Given the description of an element on the screen output the (x, y) to click on. 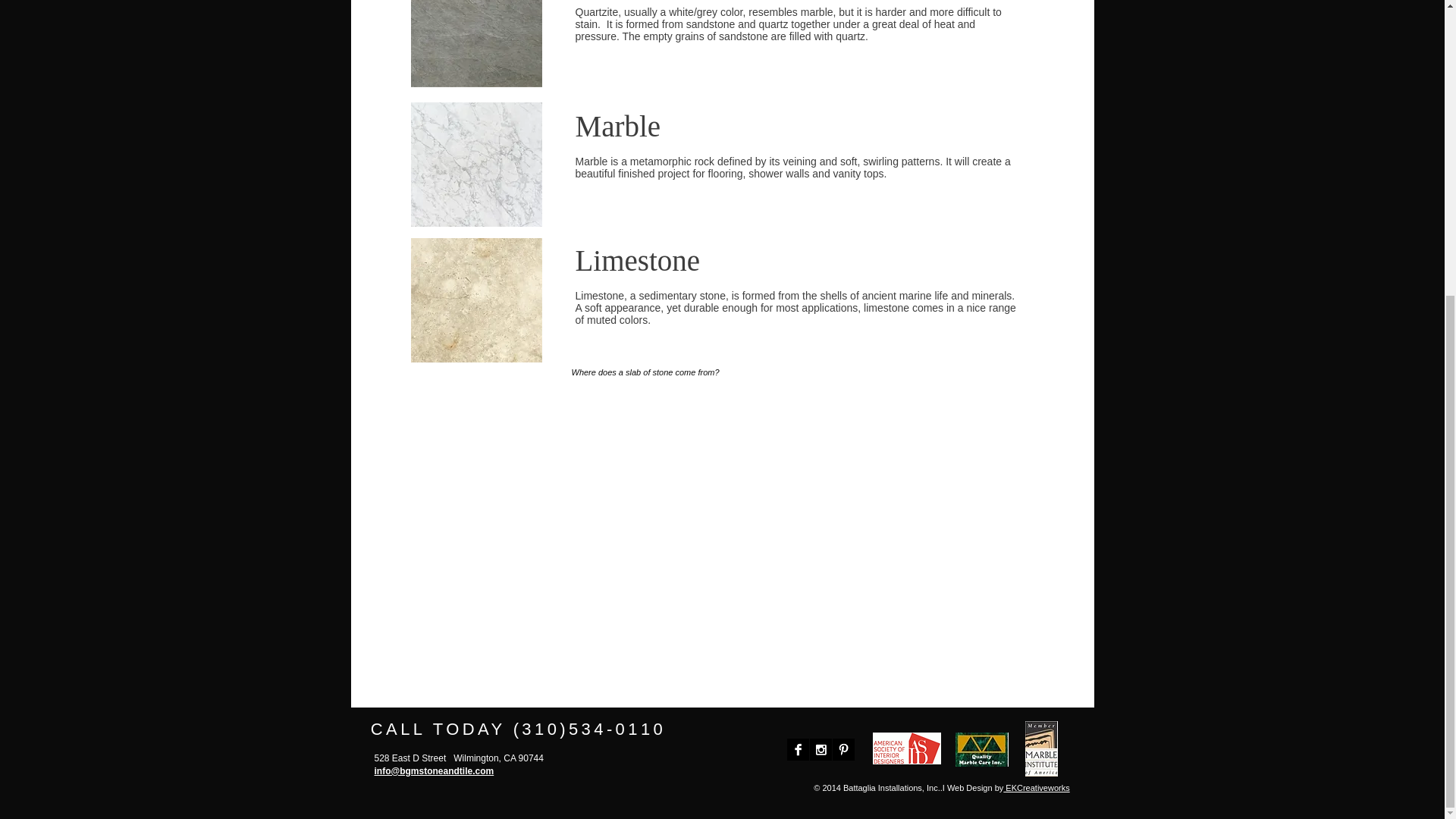
External YouTube (778, 550)
White Background Marble Wall Texture.jpg (475, 164)
EKCreativeworks (1035, 787)
asid.png (906, 748)
quartzite.jpg (475, 43)
limestone.jpg (475, 300)
